Given the description of an element on the screen output the (x, y) to click on. 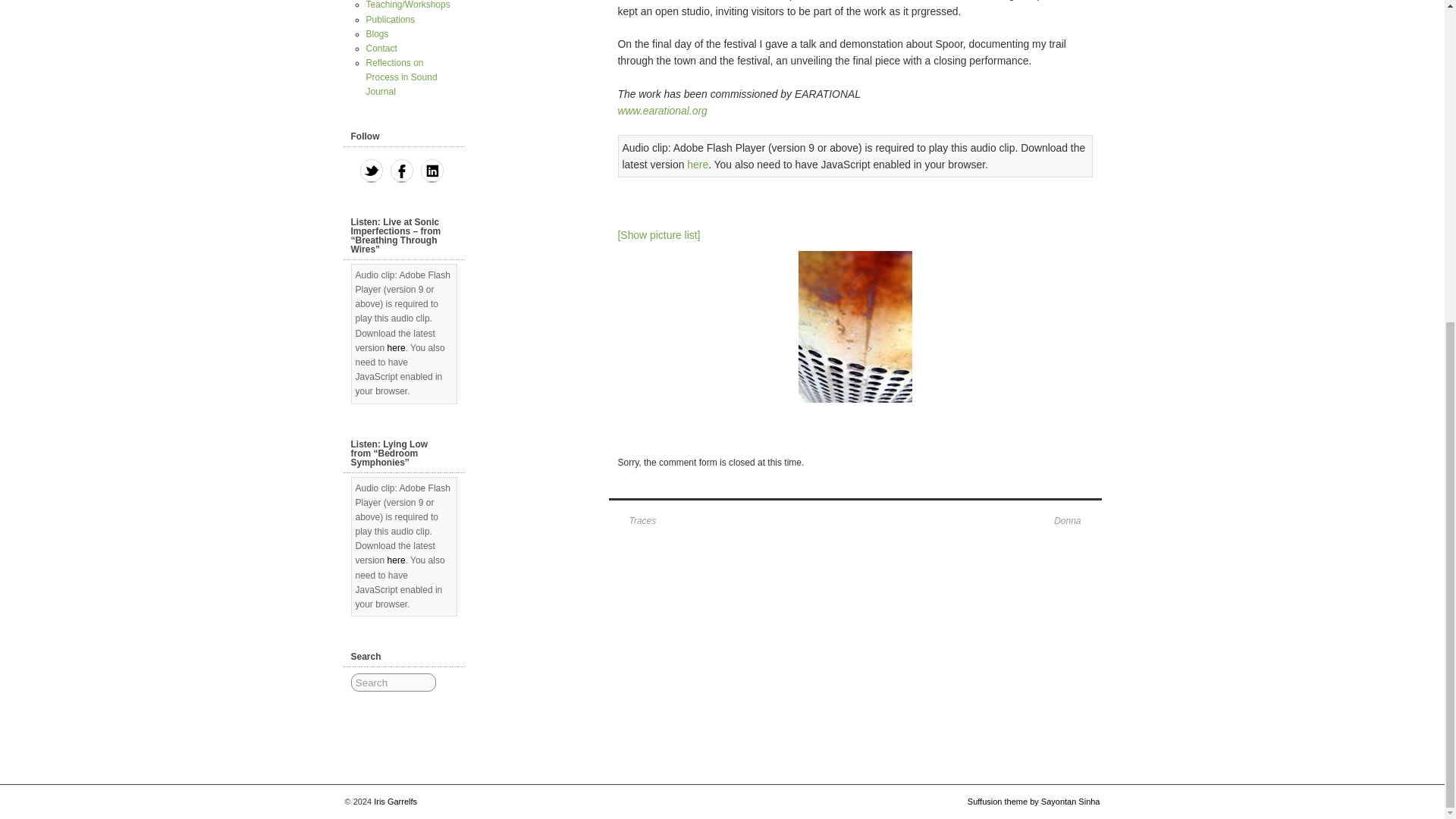
  Donna (1075, 521)
Blogs (376, 33)
here (396, 560)
  Traces (635, 521)
Search (392, 682)
Search (392, 682)
Reflections on Process in Sound Journal (400, 77)
Contact (380, 48)
here (697, 164)
here (396, 347)
